Given the description of an element on the screen output the (x, y) to click on. 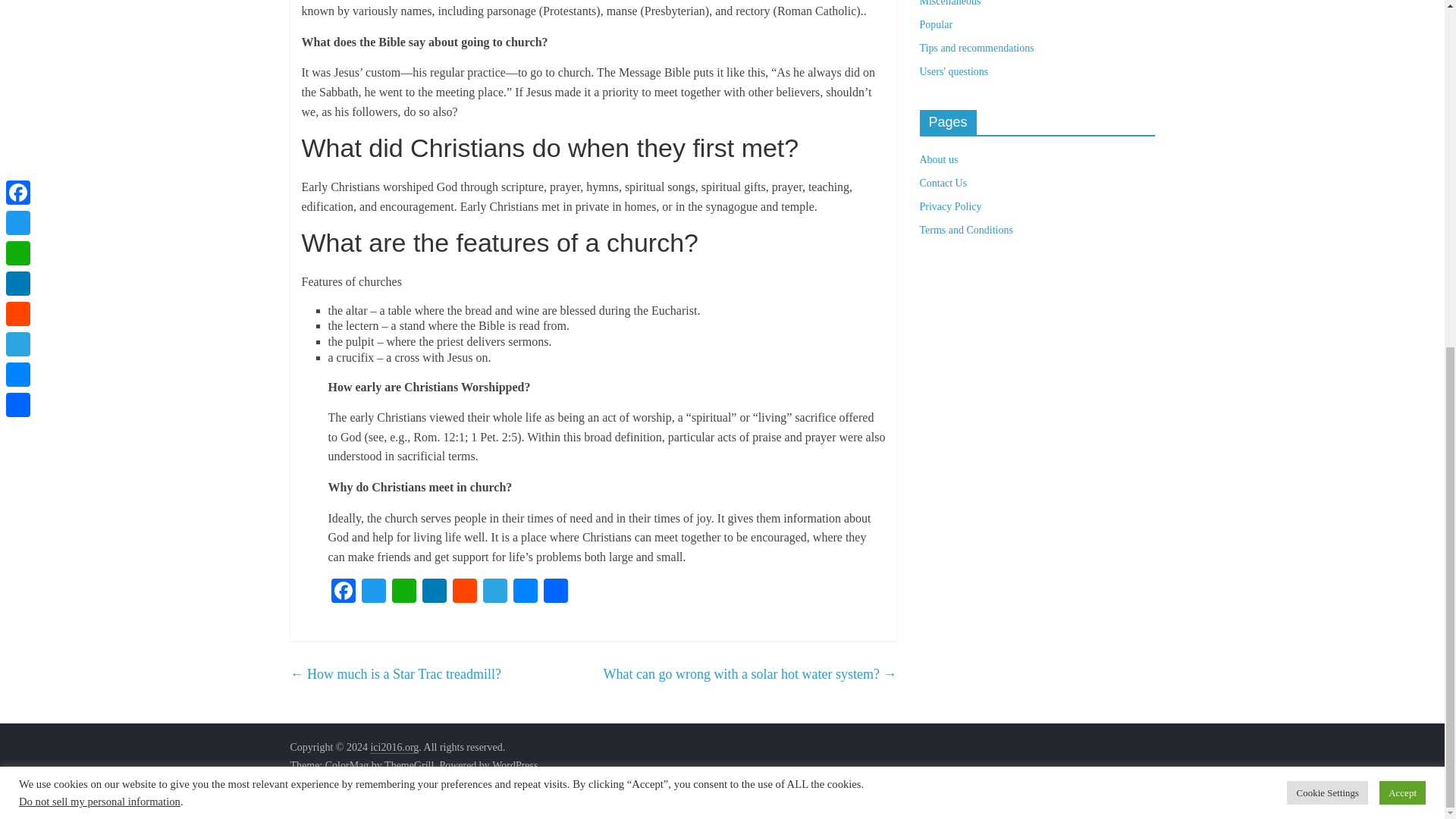
Facebook (342, 592)
WhatsApp (403, 592)
Messenger (524, 592)
Twitter (373, 592)
Share (555, 592)
Facebook (342, 592)
LinkedIn (433, 592)
Messenger (524, 592)
Telegram (494, 592)
Twitter (373, 592)
Telegram (494, 592)
Reddit (463, 592)
Reddit (463, 592)
WhatsApp (403, 592)
LinkedIn (433, 592)
